Given the description of an element on the screen output the (x, y) to click on. 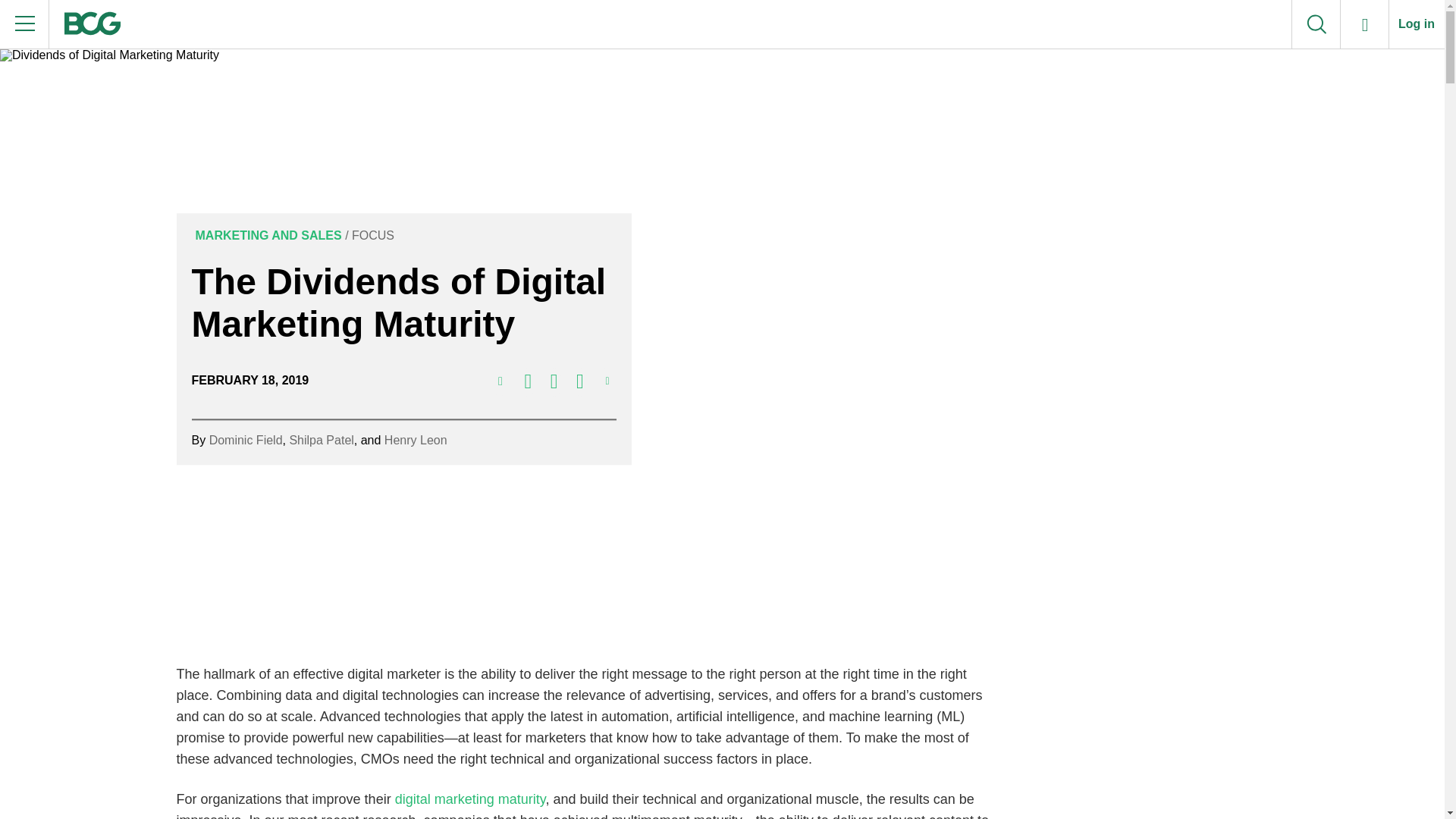
digital marketing maturity (470, 798)
Henry Leon (415, 440)
MARKETING AND SALES (265, 236)
Shilpa Patel (320, 440)
The Dividends of Digital Marketing Maturity - PDF (501, 389)
Log in (1416, 24)
